Given the description of an element on the screen output the (x, y) to click on. 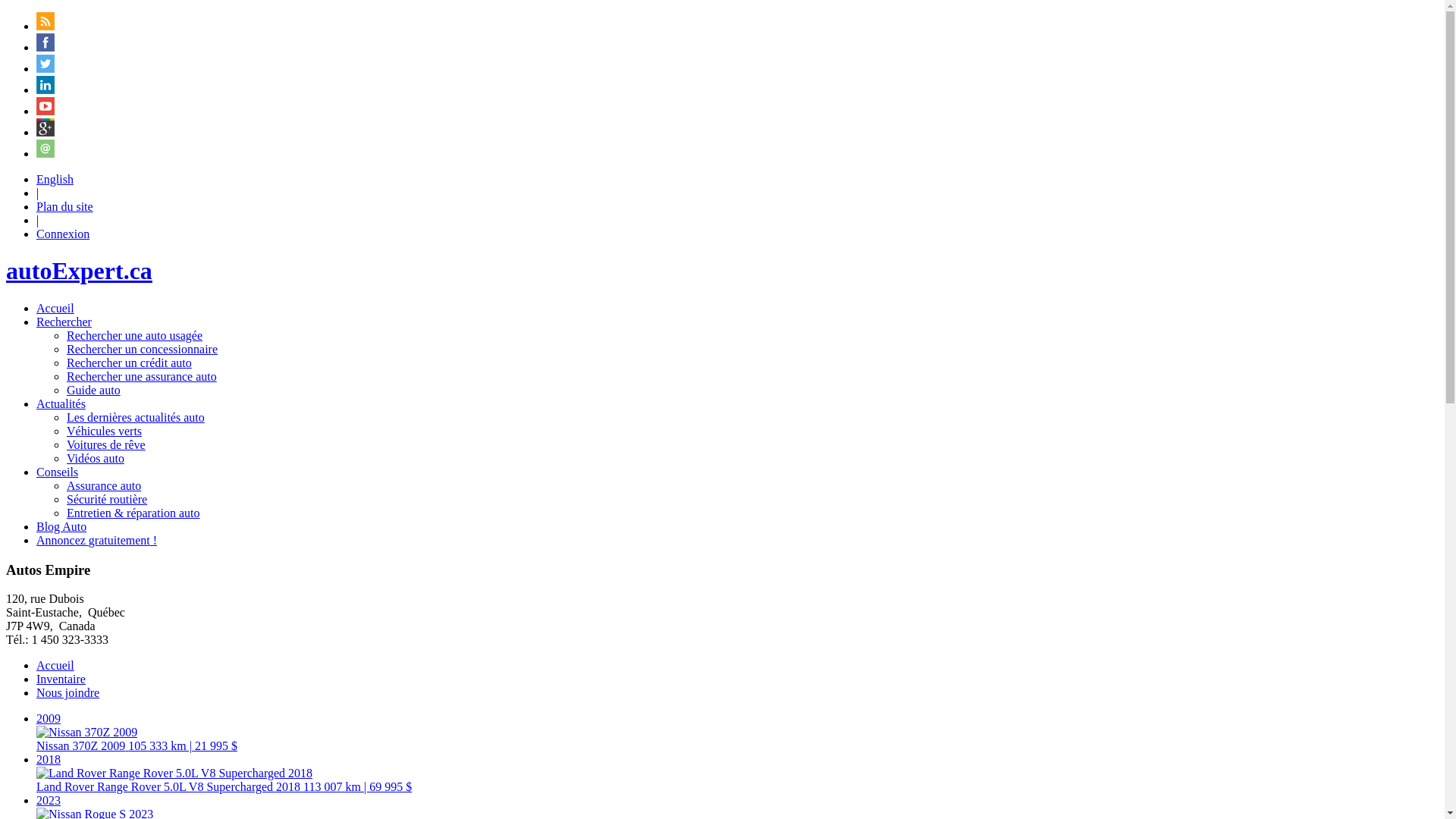
Conseils Element type: text (57, 471)
Accueil Element type: text (55, 307)
Joindre autoExpert.ca Element type: hover (45, 153)
Suivez autoExpert.ca sur Facebook Element type: hover (45, 46)
Plan du site Element type: text (64, 206)
Rechercher Element type: text (63, 321)
Suivez autoExpert.ca sur Youtube Element type: hover (45, 110)
Rechercher un concessionnaire Element type: text (141, 348)
Suivez autoExpert.ca sur Twitter Element type: hover (45, 68)
Blog Auto Element type: text (61, 526)
Rechercher une assurance auto Element type: text (141, 376)
Suivez Publications Le Guide Inc. sur LinkedIn Element type: hover (45, 89)
Connexion Element type: text (62, 233)
Inventaire Element type: text (60, 678)
autoExpert.ca Element type: text (79, 270)
Assurance auto Element type: text (103, 485)
Nous joindre Element type: text (67, 692)
English Element type: text (54, 178)
2009
Nissan 370Z 2009 105 333 km | 21 995 $ Element type: text (737, 732)
Annoncez gratuitement ! Element type: text (96, 539)
Accueil Element type: text (55, 664)
Guide auto Element type: text (93, 389)
Suivez autoExpert.ca sur Google Plus Element type: hover (45, 131)
